Given the description of an element on the screen output the (x, y) to click on. 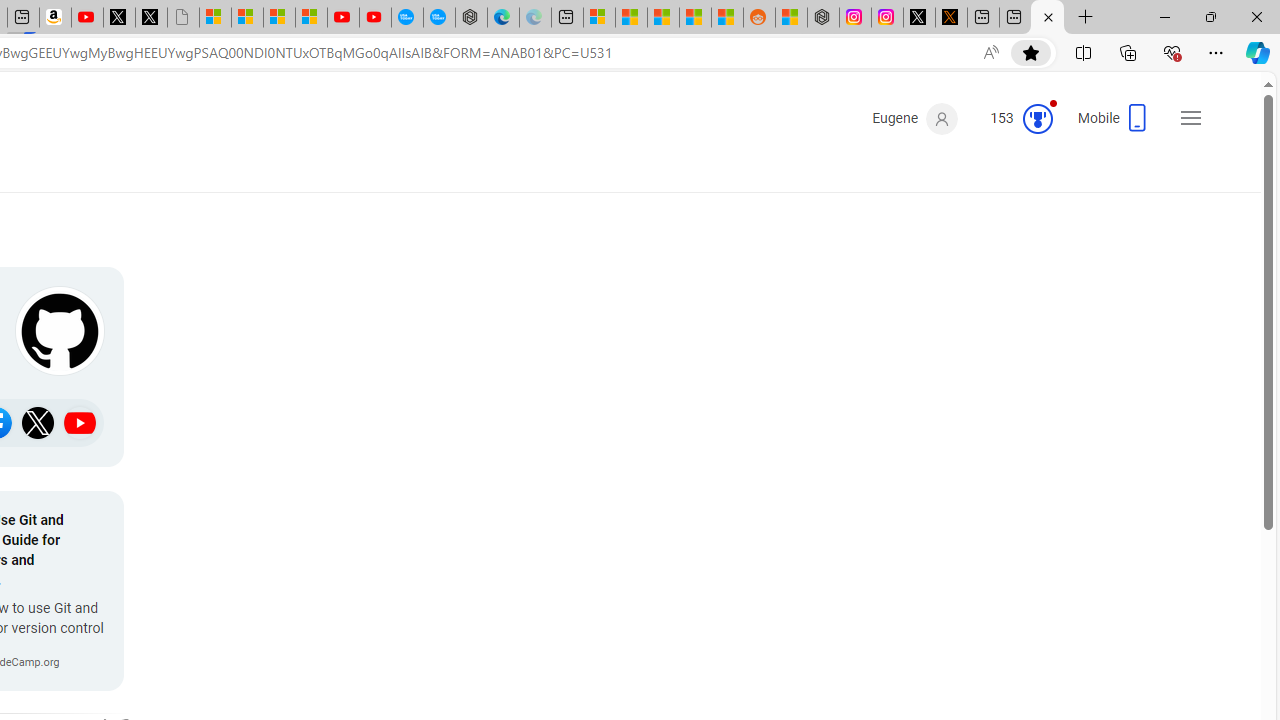
Eugene (914, 119)
Class: medal-circled (1037, 118)
Settings and quick links (1190, 117)
